Given the description of an element on the screen output the (x, y) to click on. 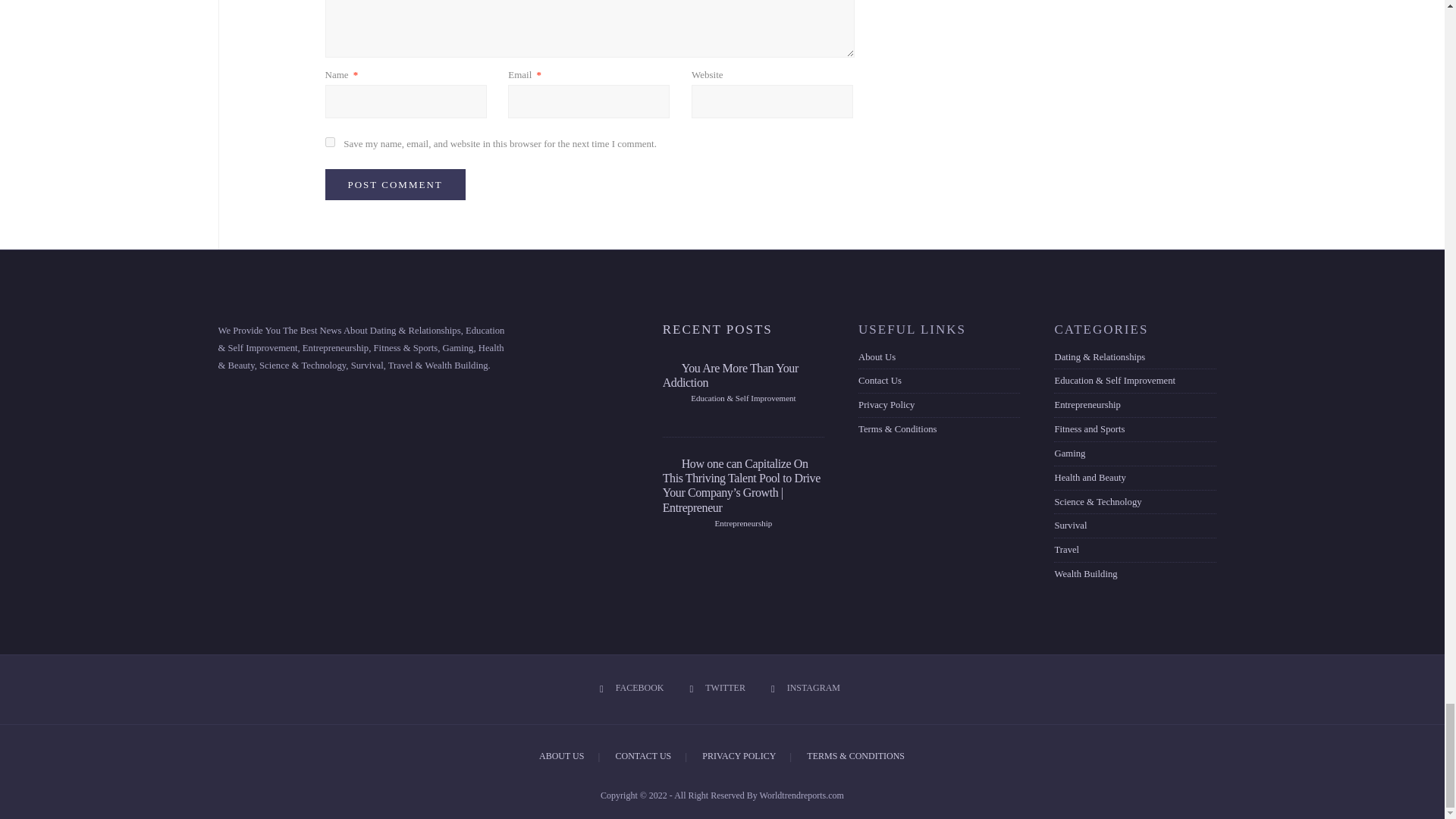
You Are More Than Your Addiction (729, 375)
Post Comment (394, 184)
yes (329, 142)
Post Comment (394, 184)
